Given the description of an element on the screen output the (x, y) to click on. 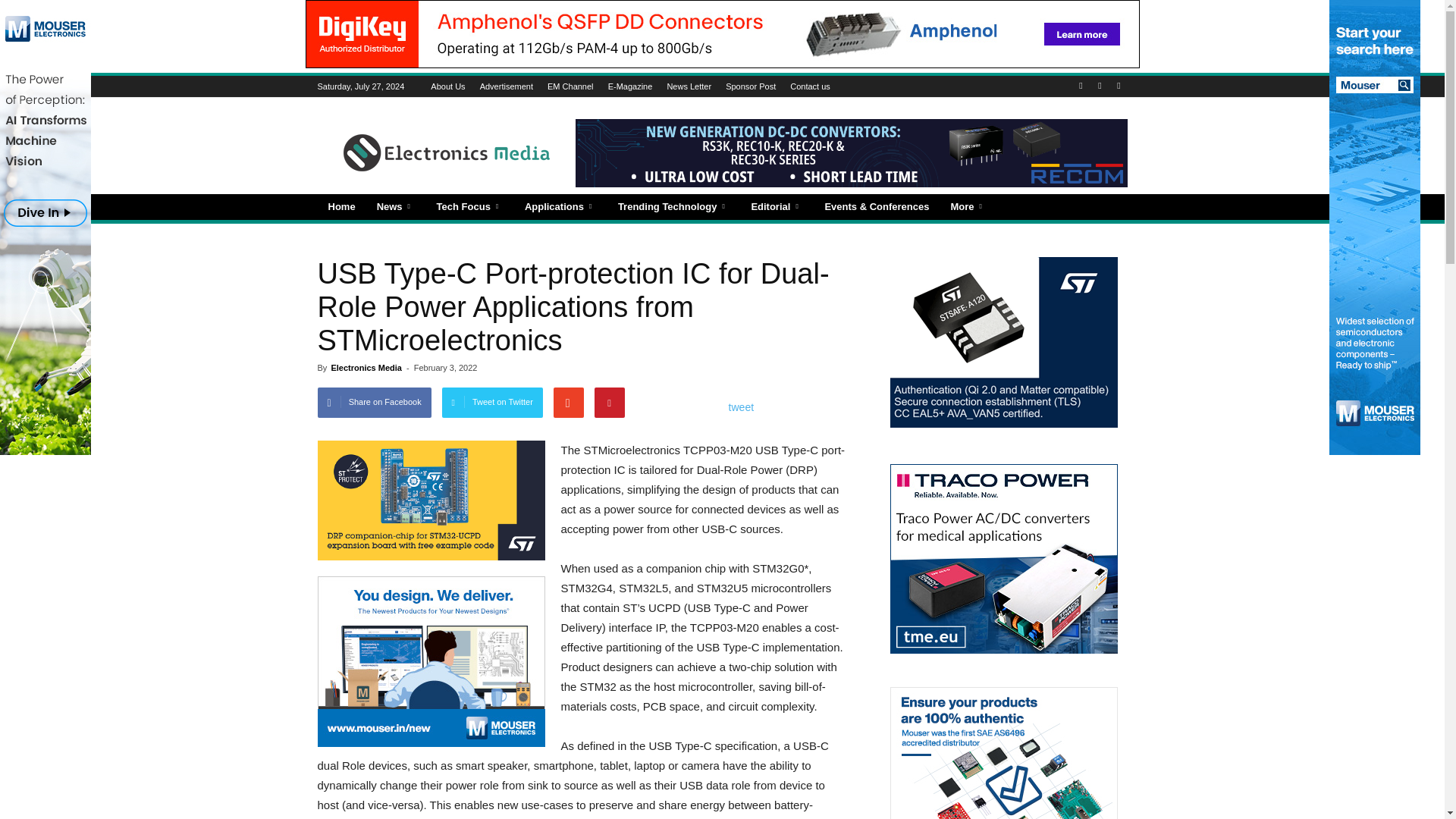
advertisement (430, 661)
USB Type-C Port-protection IC (430, 500)
